Given the description of an element on the screen output the (x, y) to click on. 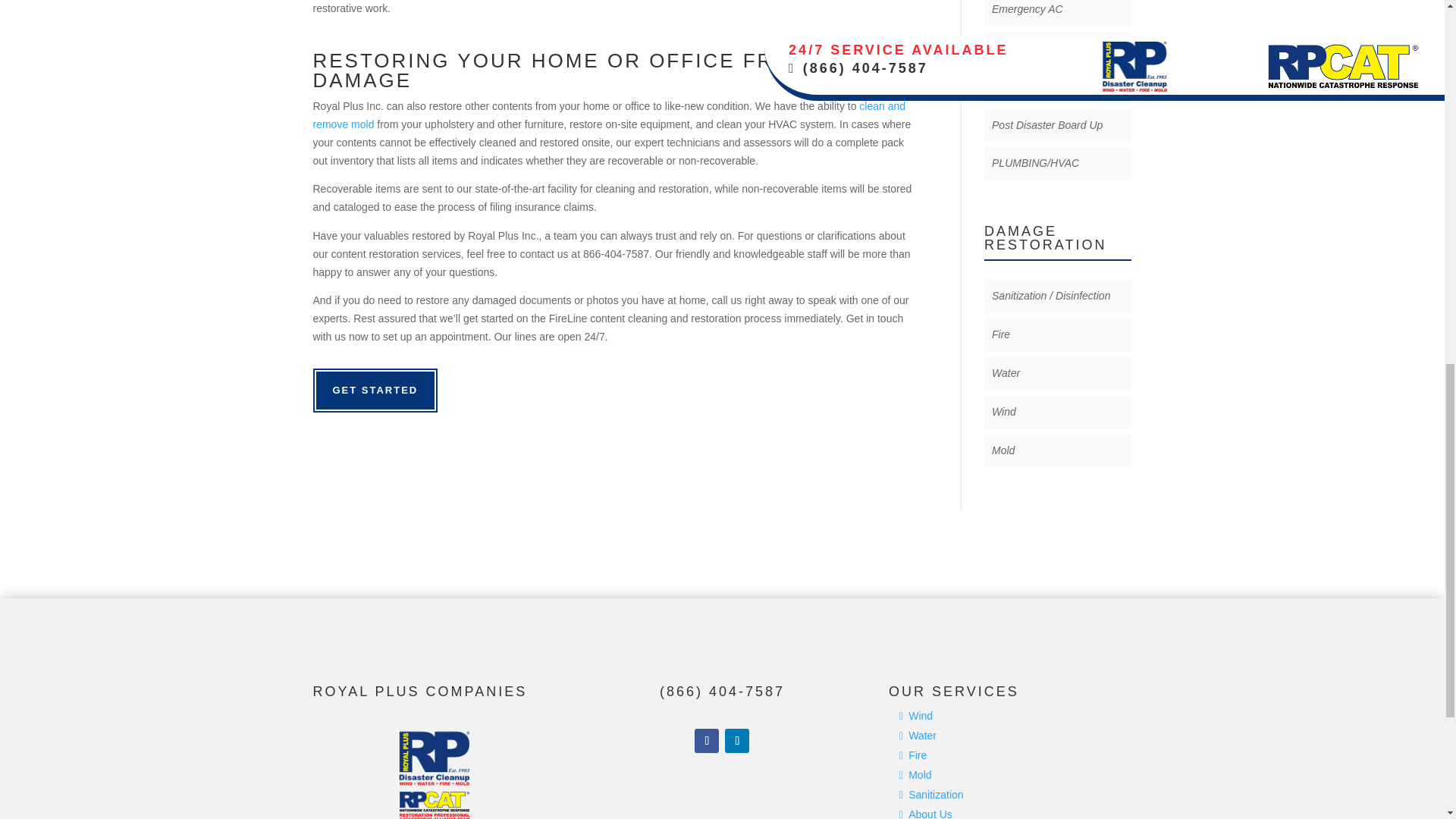
Follow on Facebook (706, 740)
Follow on LinkedIn (737, 740)
